Given the description of an element on the screen output the (x, y) to click on. 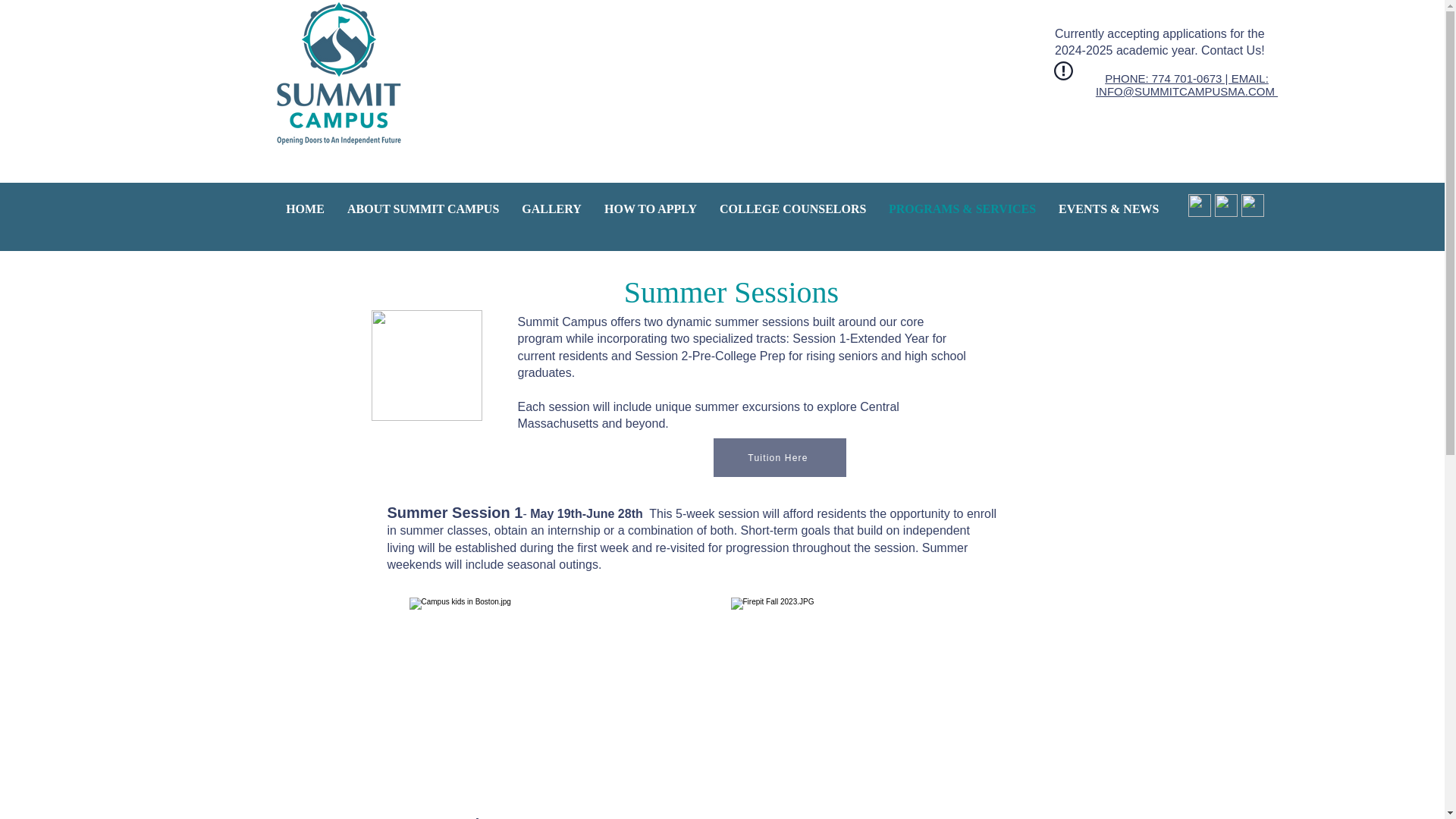
COLLEGE COUNSELORS (792, 209)
HOW TO APPLY (649, 209)
GALLERY (551, 209)
Tuition Here (779, 457)
ABOUT SUMMIT CAMPUS (423, 209)
HOME (305, 209)
